Given the description of an element on the screen output the (x, y) to click on. 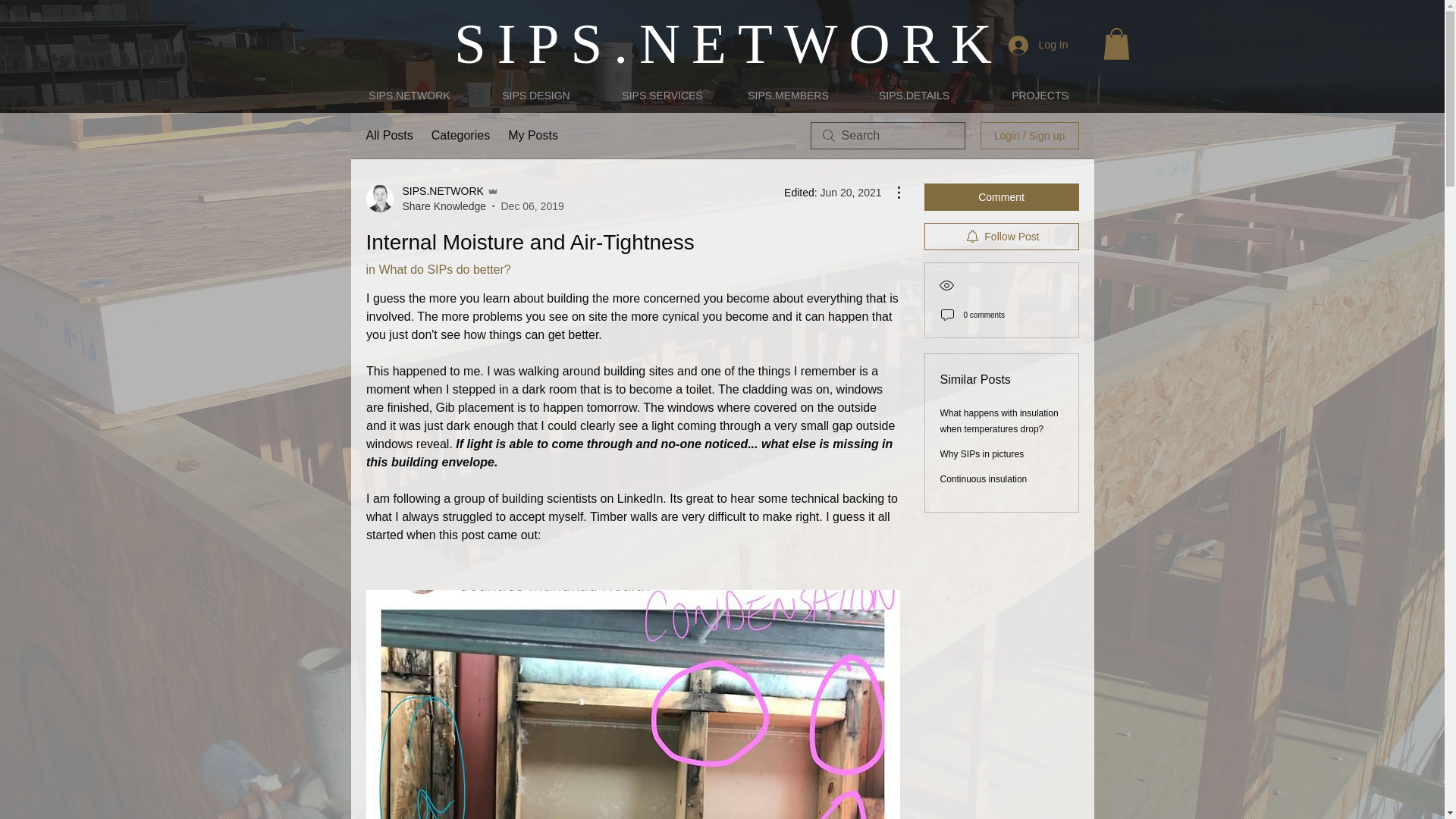
SIPS.DETAILS (913, 96)
SIPS.SERVICES (661, 96)
Comment (1000, 196)
My Posts (532, 135)
SIPS.MEMBERS (787, 96)
Why SIPs in pictures (982, 453)
What happens with insulation when temperatures drop? (999, 420)
All Posts (388, 135)
Continuous insulation (983, 479)
Categories (459, 135)
